Given the description of an element on the screen output the (x, y) to click on. 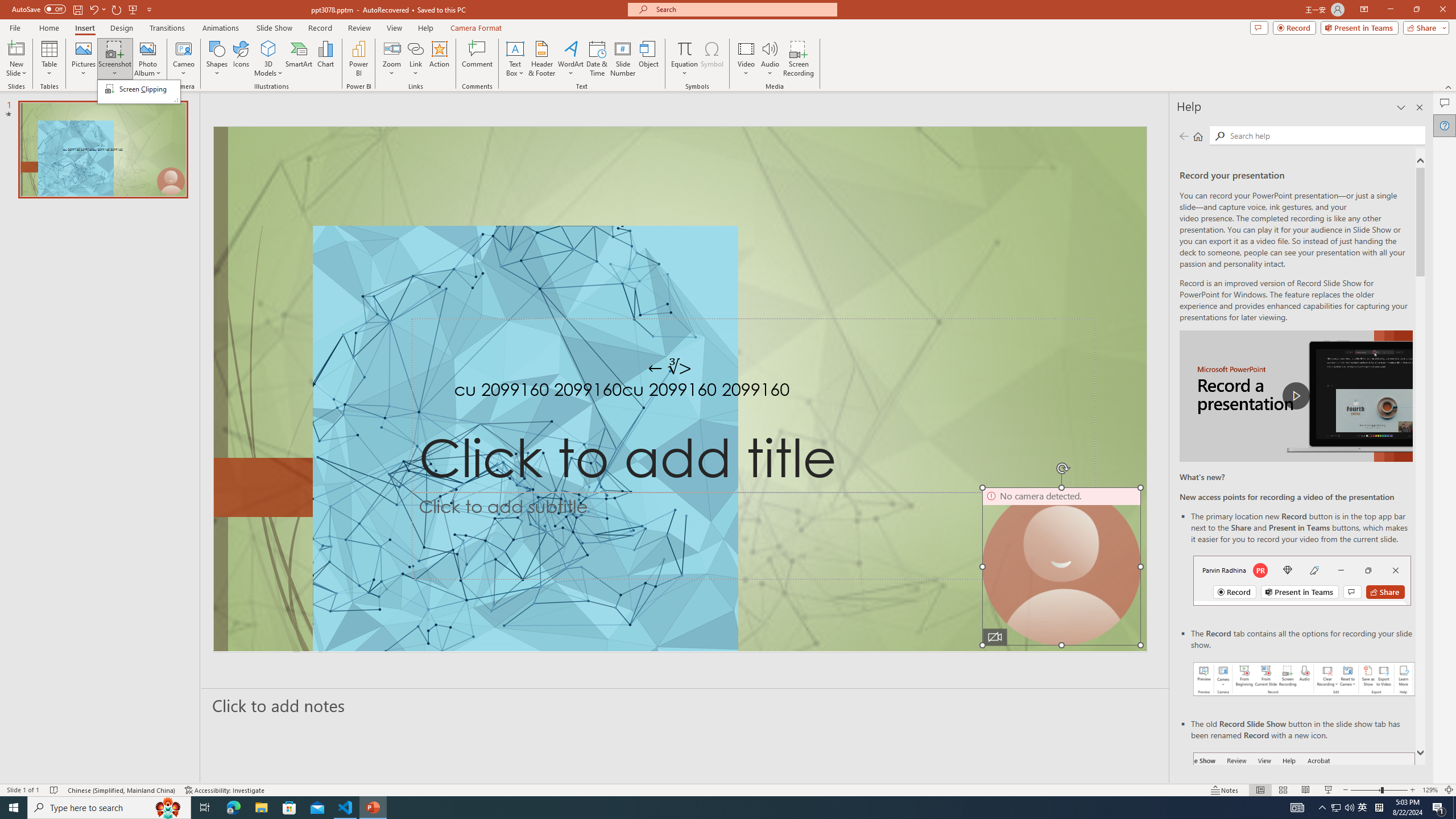
An abstract genetic concept (680, 388)
Screenshot (114, 58)
